Given the description of an element on the screen output the (x, y) to click on. 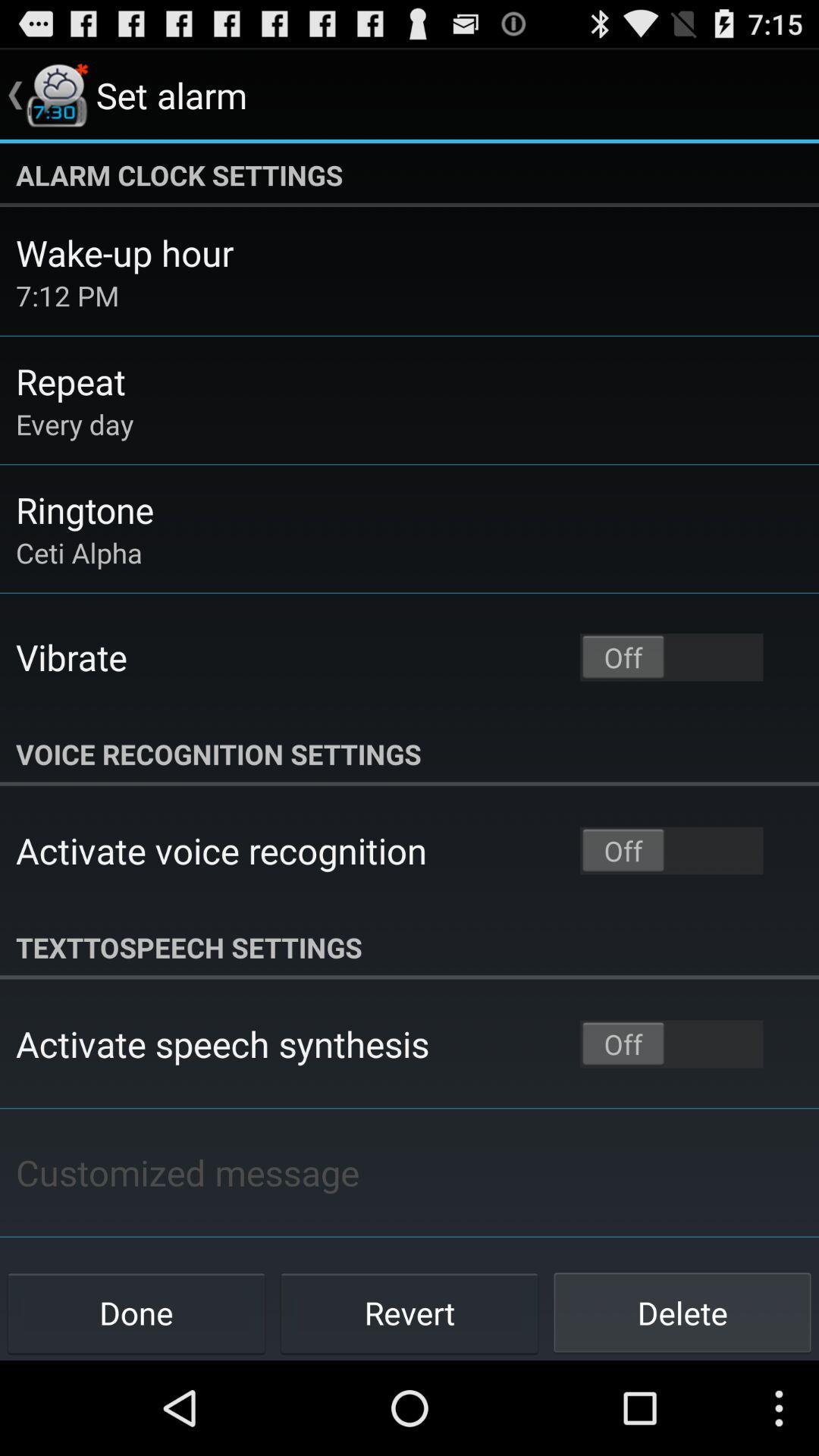
select item above the 7:12 pm item (124, 252)
